Given the description of an element on the screen output the (x, y) to click on. 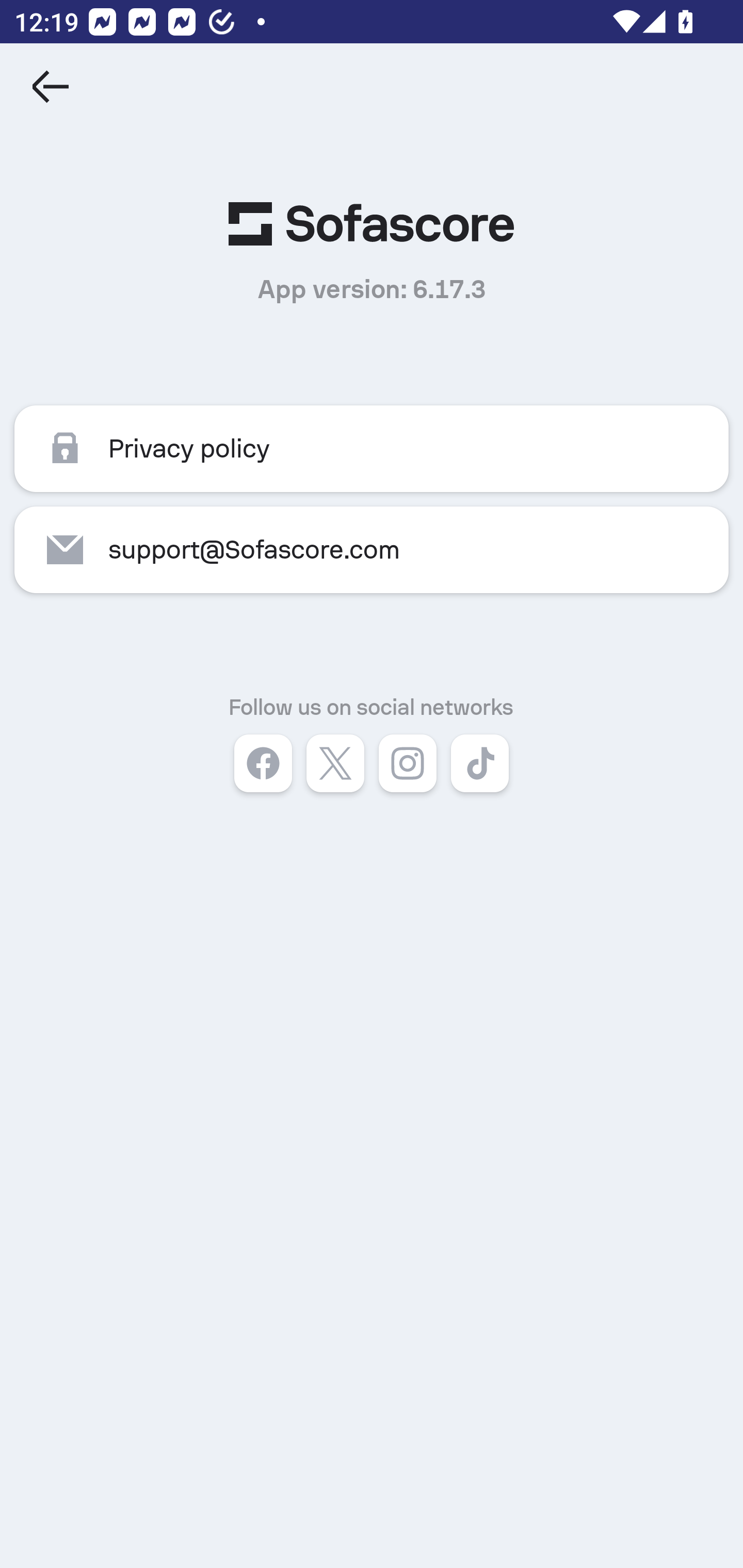
Navigate up (50, 86)
picture (371, 224)
Privacy policy (371, 449)
support@Sofascore.com (371, 549)
